Given the description of an element on the screen output the (x, y) to click on. 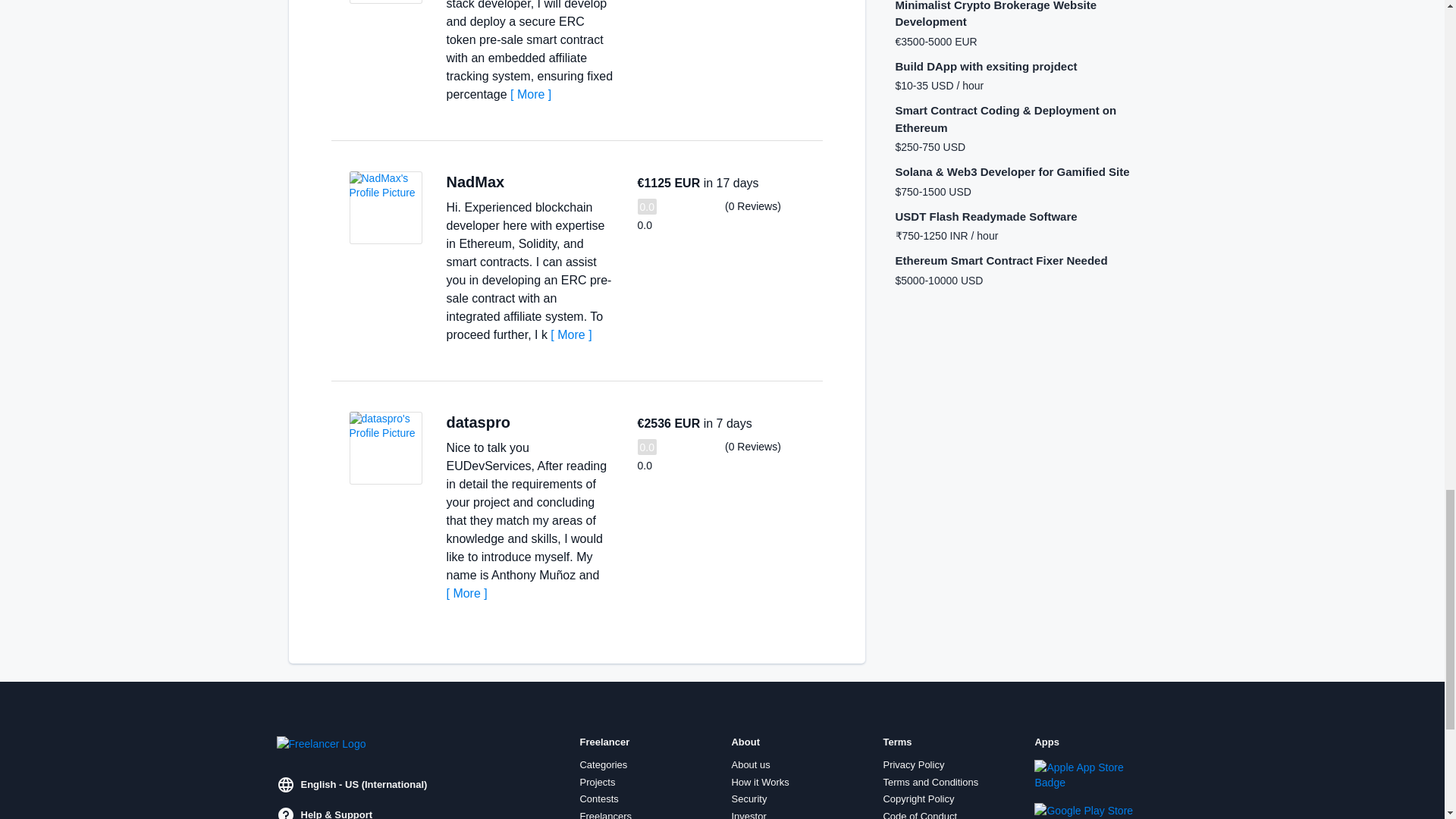
View dataspro's Profile (385, 447)
View REPLATechnology's Profile (385, 2)
Get it on Google Play (1085, 811)
View NadMax's Profile (385, 207)
dataspro (477, 422)
More (465, 593)
More (531, 93)
Download on the App Store (1085, 775)
More (570, 334)
NadMax (474, 181)
